Given the description of an element on the screen output the (x, y) to click on. 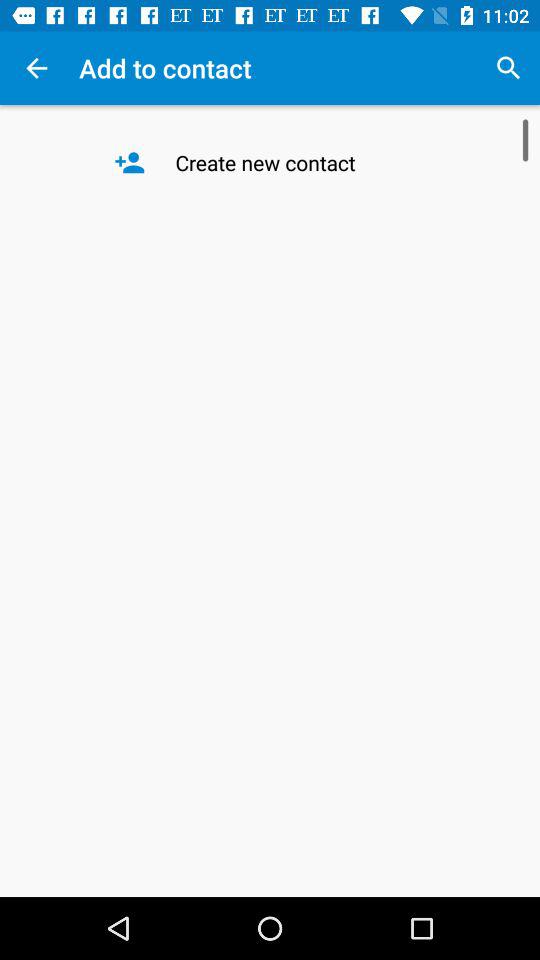
press icon next to the add to contact (508, 67)
